Given the description of an element on the screen output the (x, y) to click on. 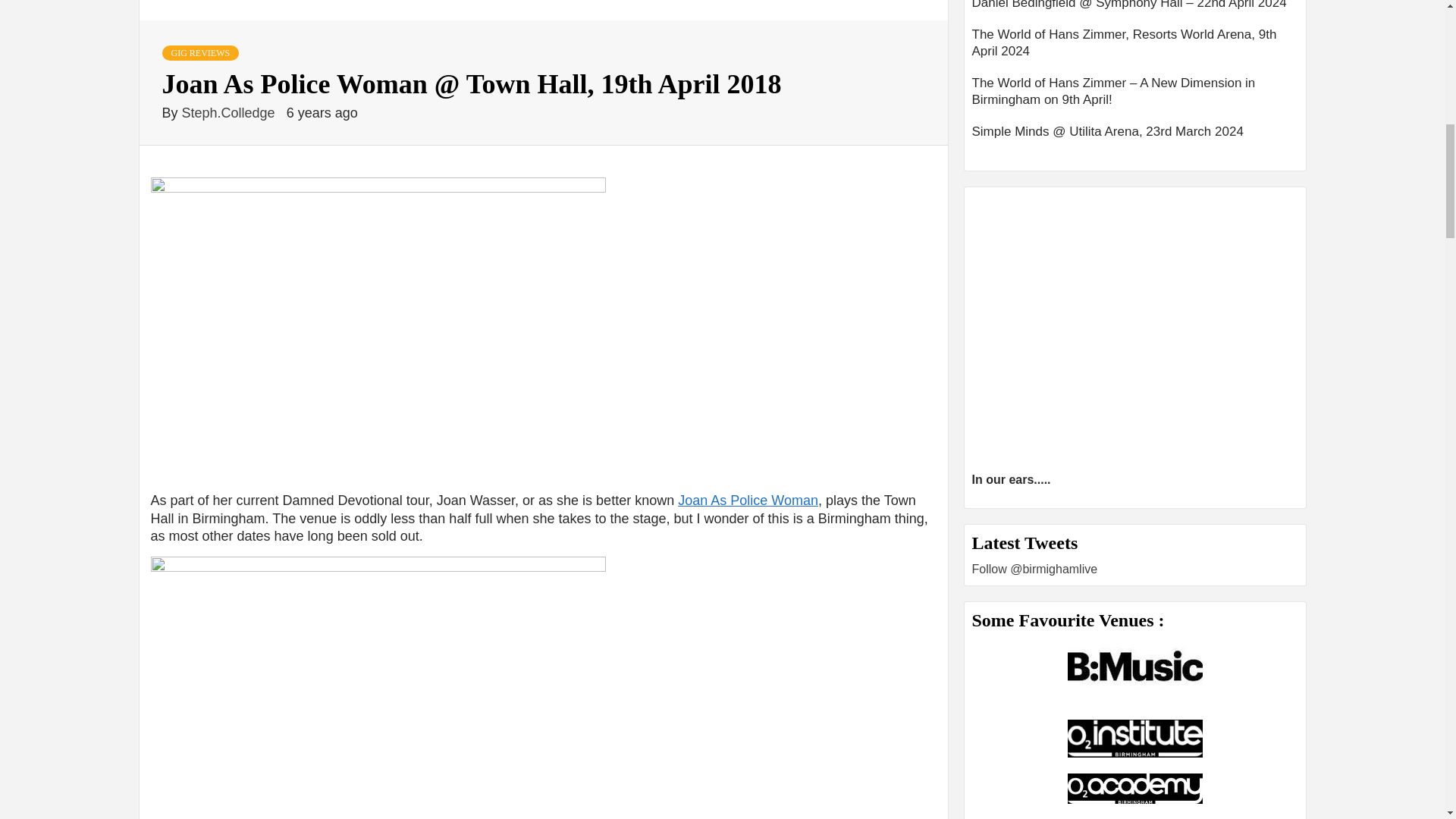
GIG REVIEWS (200, 52)
Joan As Police Woman (748, 500)
Steph.Colledge (230, 112)
